Given the description of an element on the screen output the (x, y) to click on. 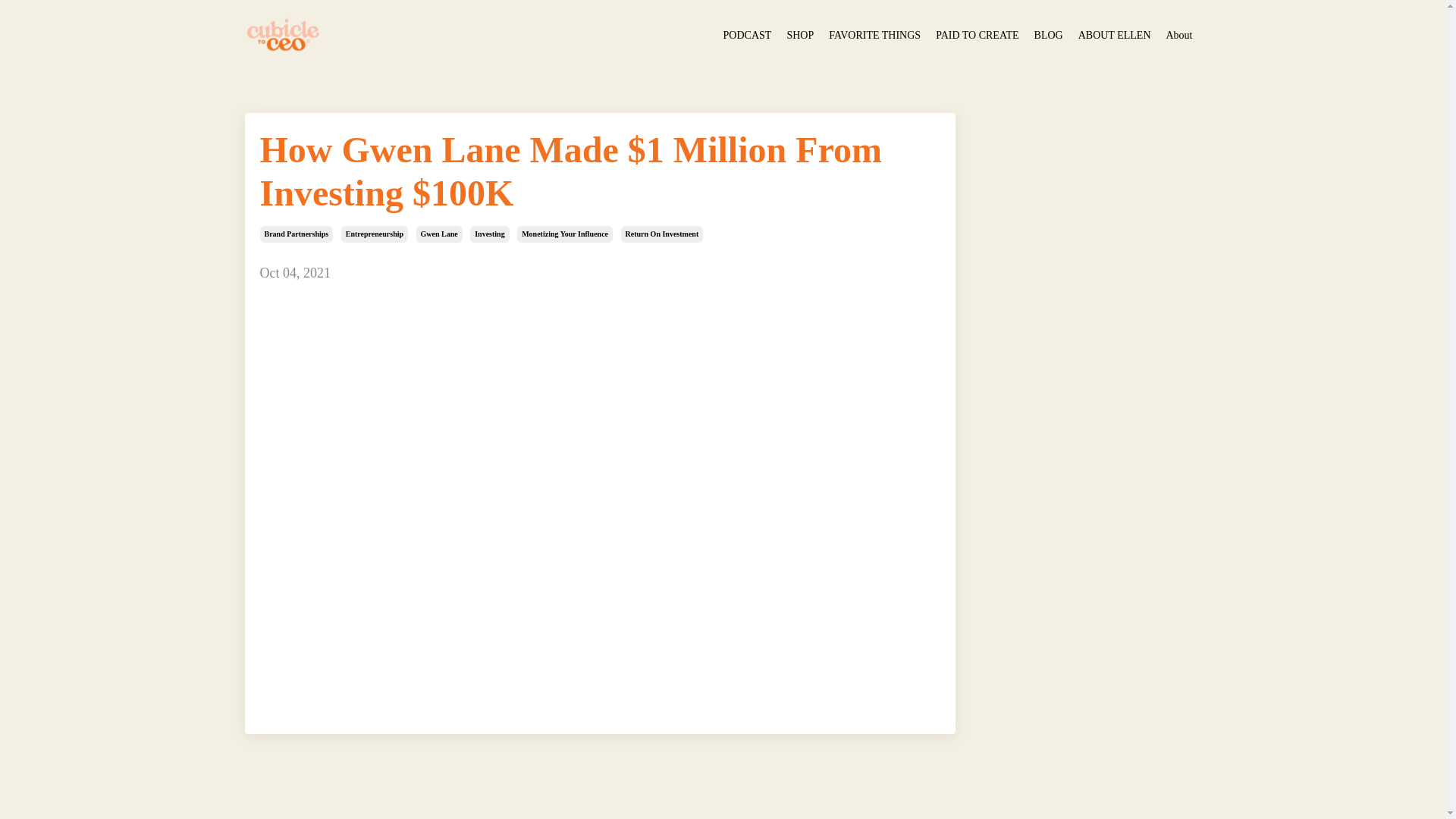
Return On Investment (662, 234)
About (1179, 35)
FAVORITE THINGS (874, 35)
BLOG (1047, 35)
Investing (489, 234)
PODCAST (747, 35)
Brand Partnerships (296, 234)
ABOUT ELLEN (1114, 35)
Entrepreneurship (373, 234)
SHOP (799, 35)
